Given the description of an element on the screen output the (x, y) to click on. 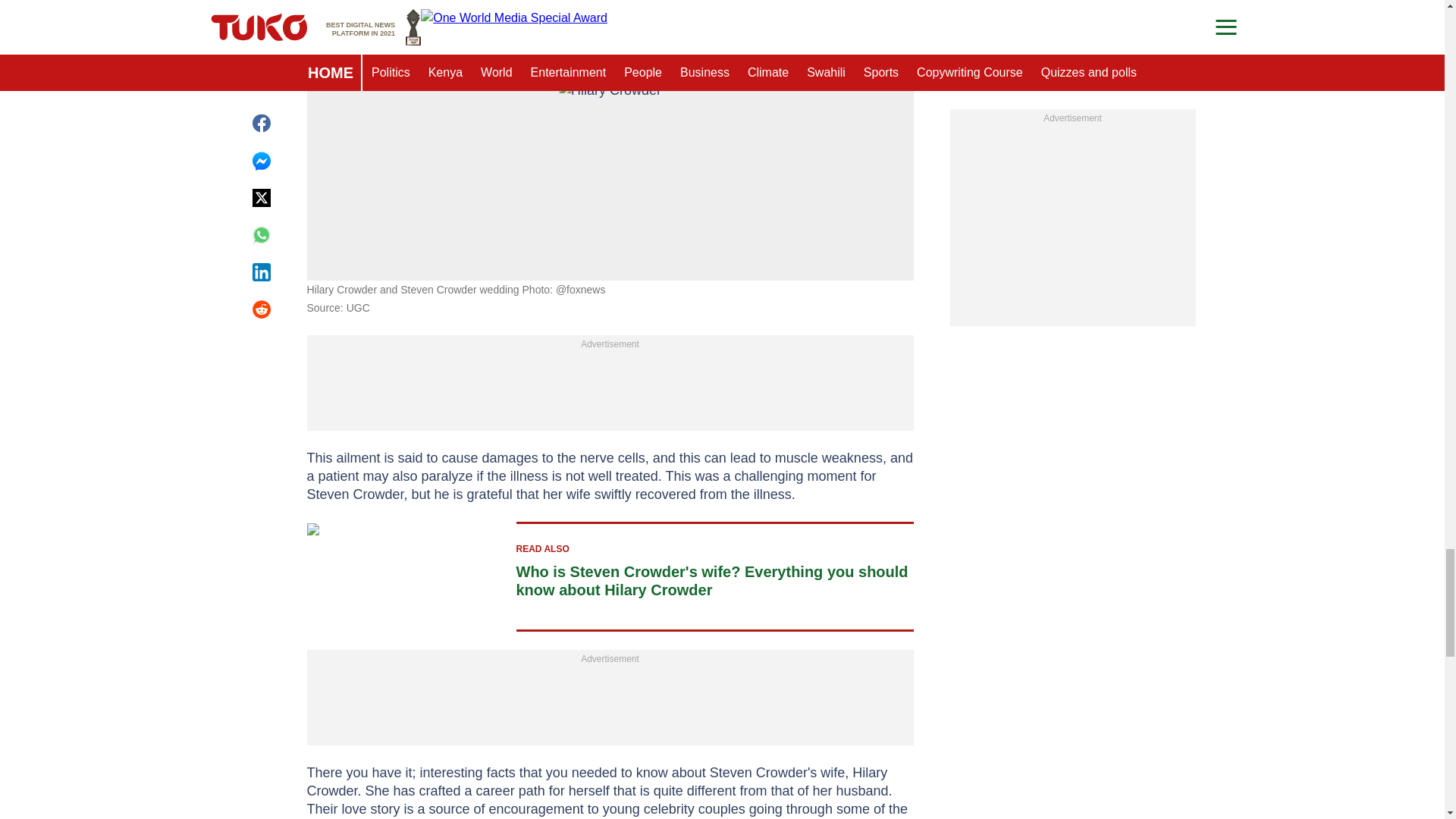
Hilary Crowder (610, 109)
